Given the description of an element on the screen output the (x, y) to click on. 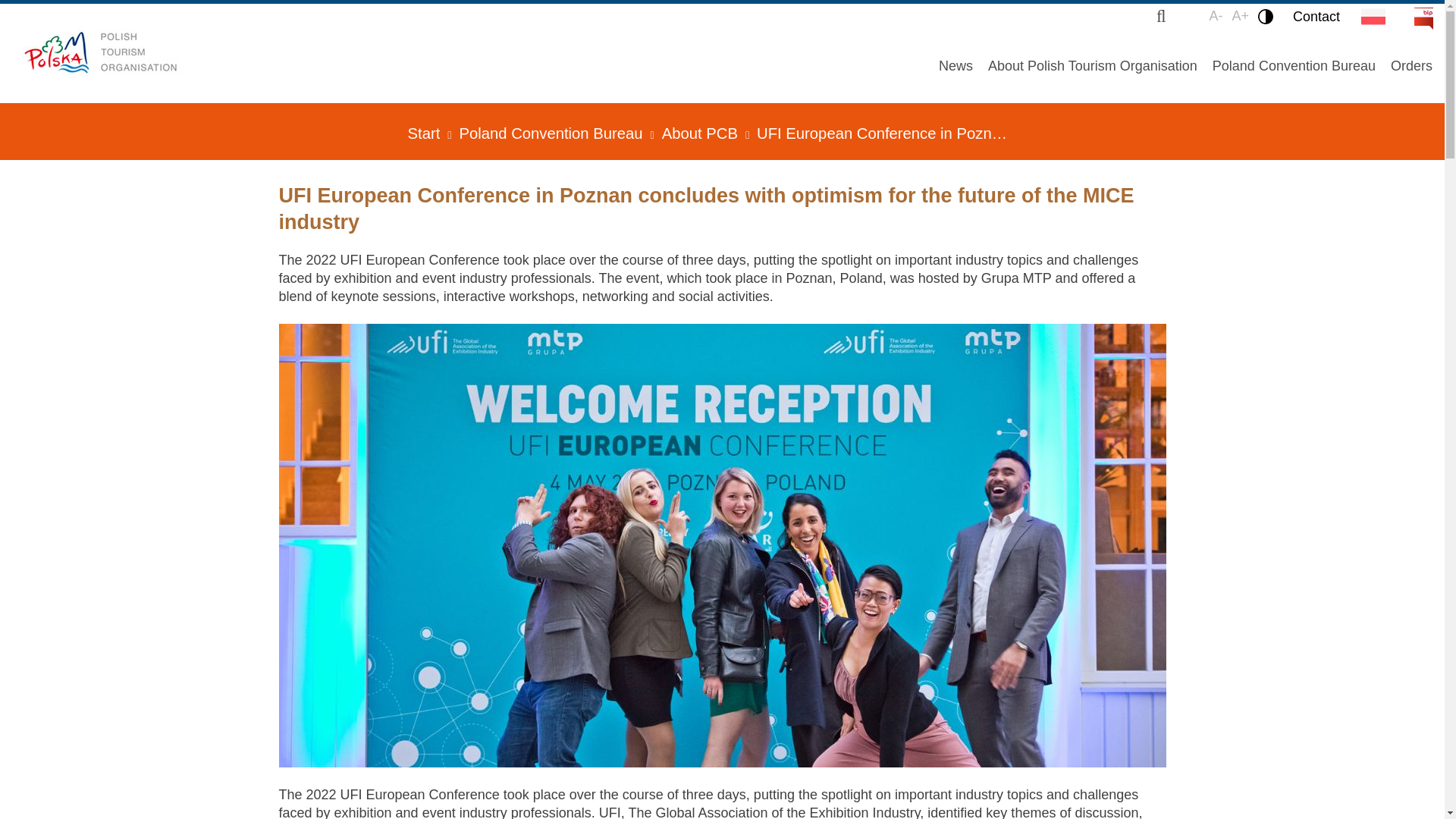
Contact form (1315, 16)
link open in new tab (1413, 9)
About Polish Tourism Organisation (1092, 64)
Poland Convention Bureau (1294, 64)
A- (1215, 16)
Contact (1315, 16)
